Given the description of an element on the screen output the (x, y) to click on. 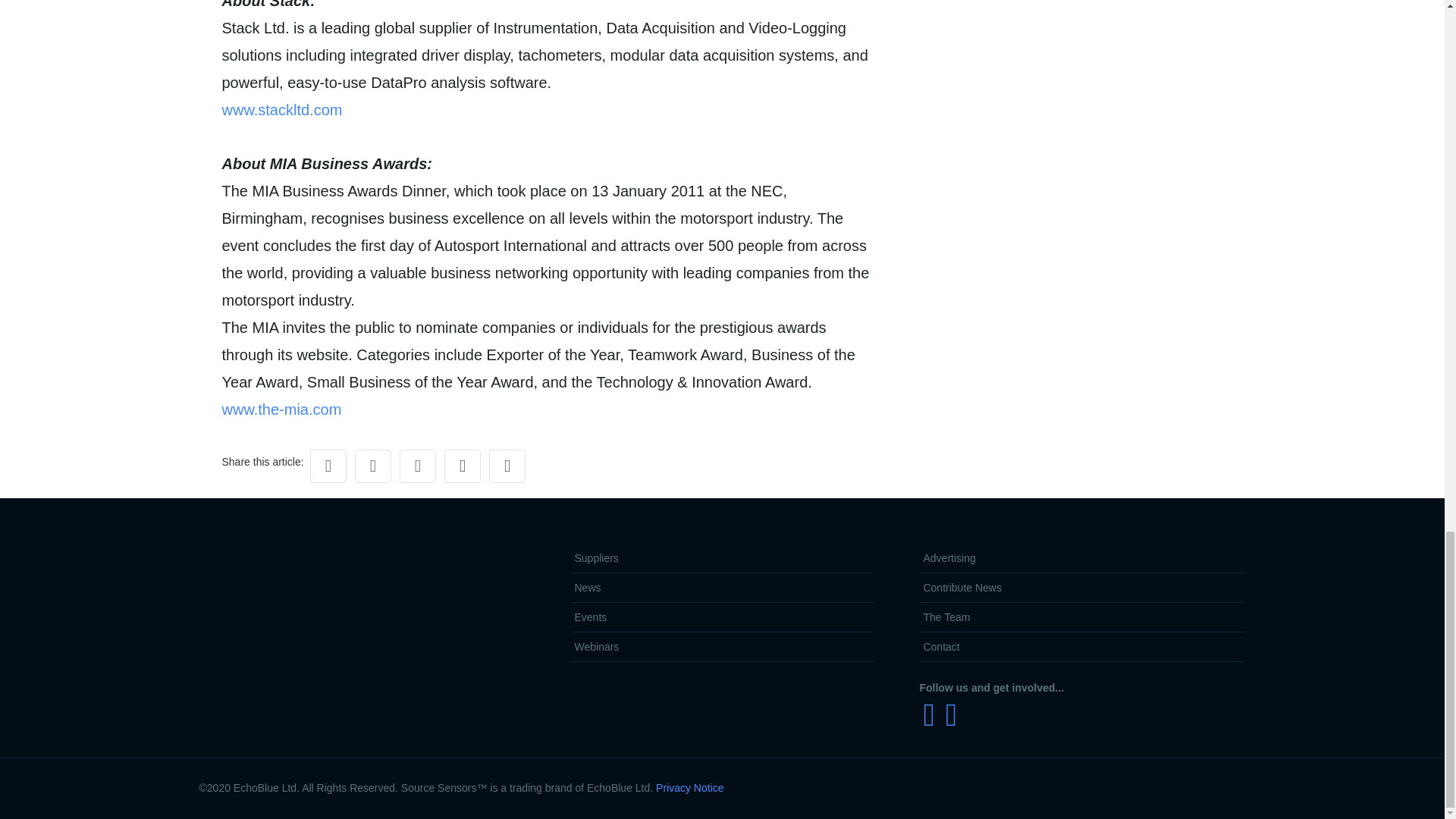
Advertising (1081, 558)
www.stackltd.com (281, 109)
News (721, 587)
Webinars (721, 646)
www.the-mia.com (280, 409)
Suppliers (721, 558)
Events (721, 617)
